Given the description of an element on the screen output the (x, y) to click on. 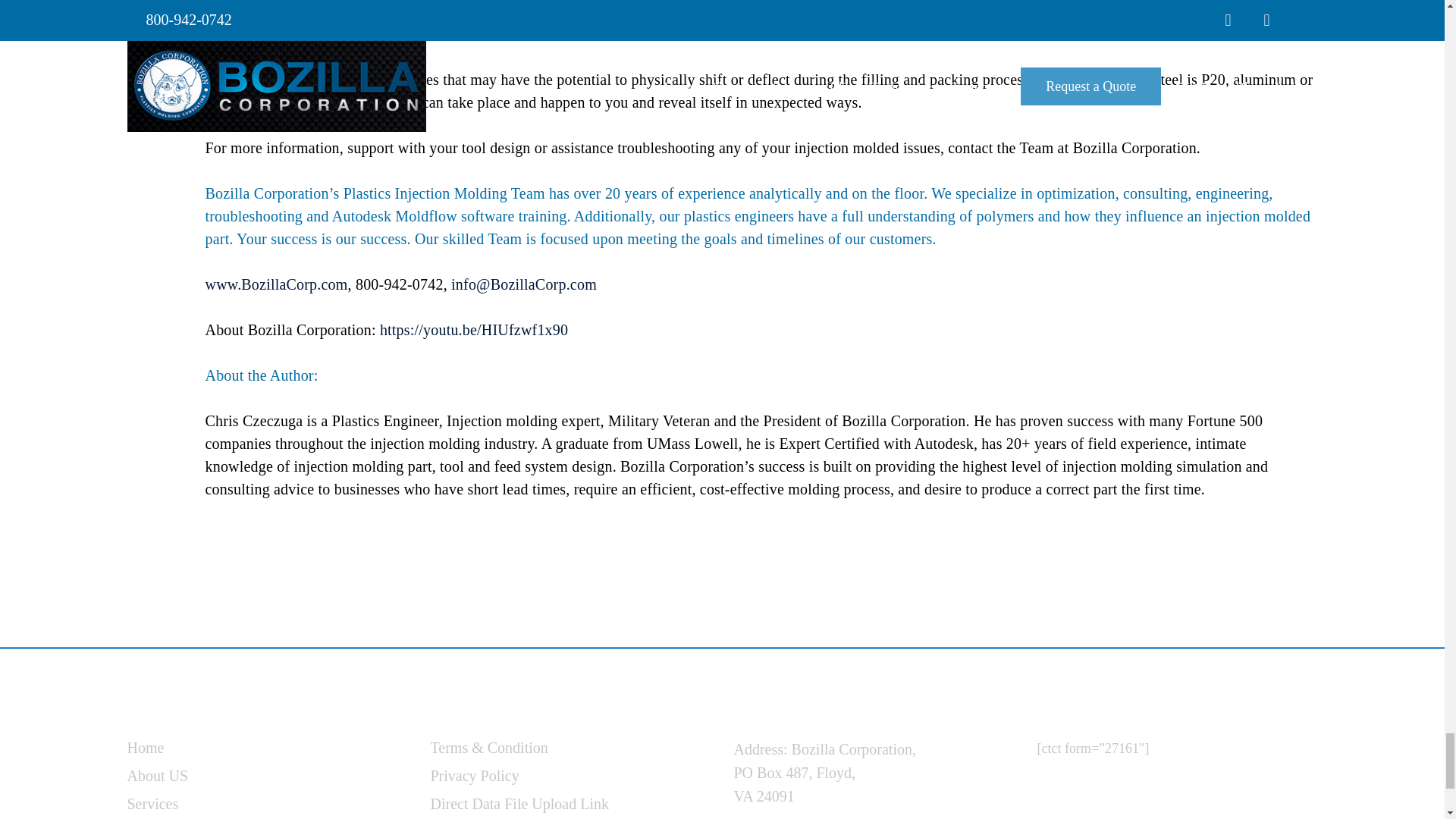
Services (153, 803)
About US (158, 775)
Home (146, 747)
Privacy Policy (474, 775)
www.BozillaCorp.com (276, 284)
Direct Data File Upload Link (520, 803)
